Given the description of an element on the screen output the (x, y) to click on. 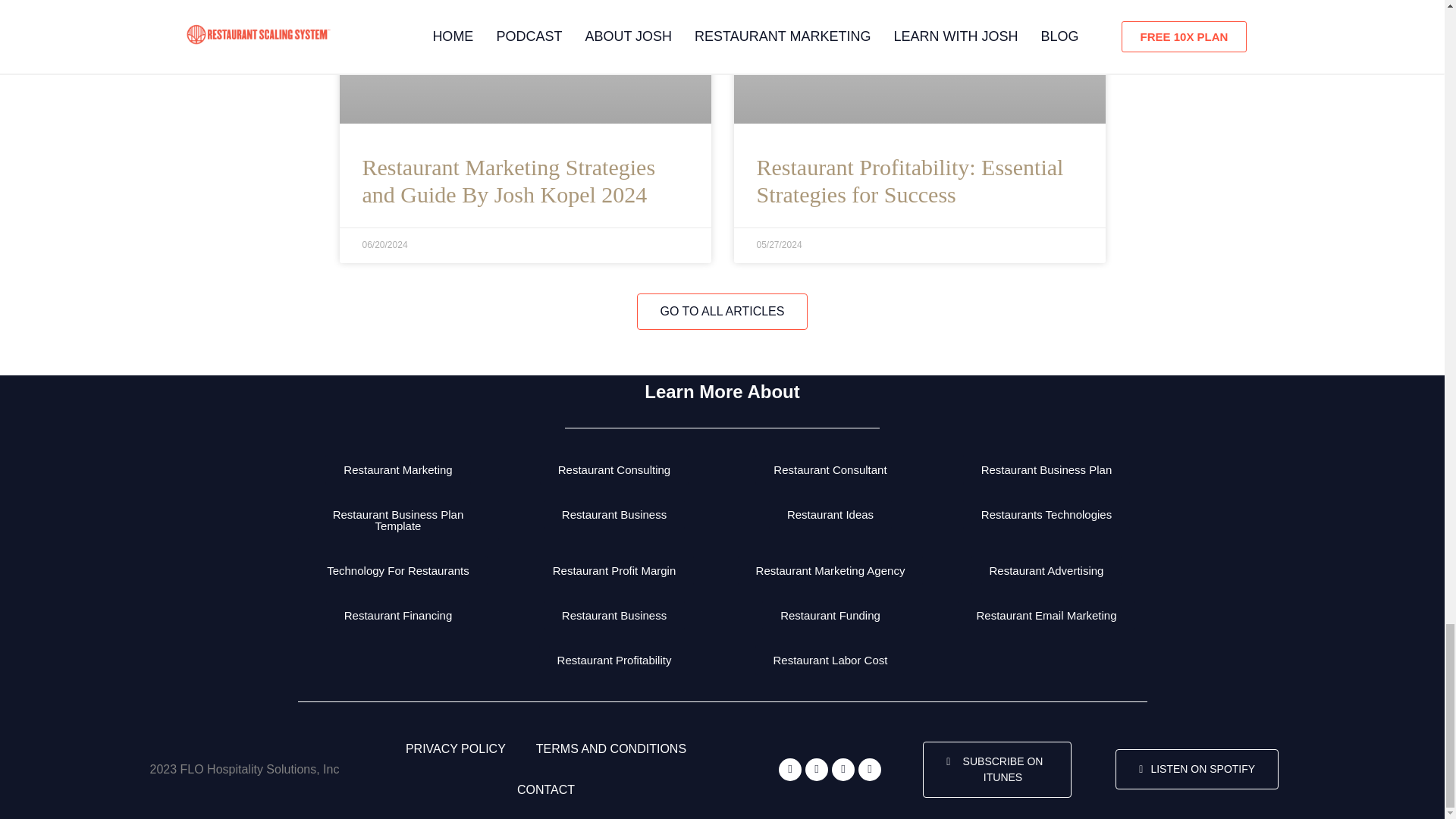
GO TO ALL ARTICLES (722, 311)
Restaurant Marketing Strategies and Guide By Josh Kopel 2024 (509, 180)
Restaurant Marketing (397, 469)
Restaurant Profitability: Essential Strategies for Success (910, 180)
